Given the description of an element on the screen output the (x, y) to click on. 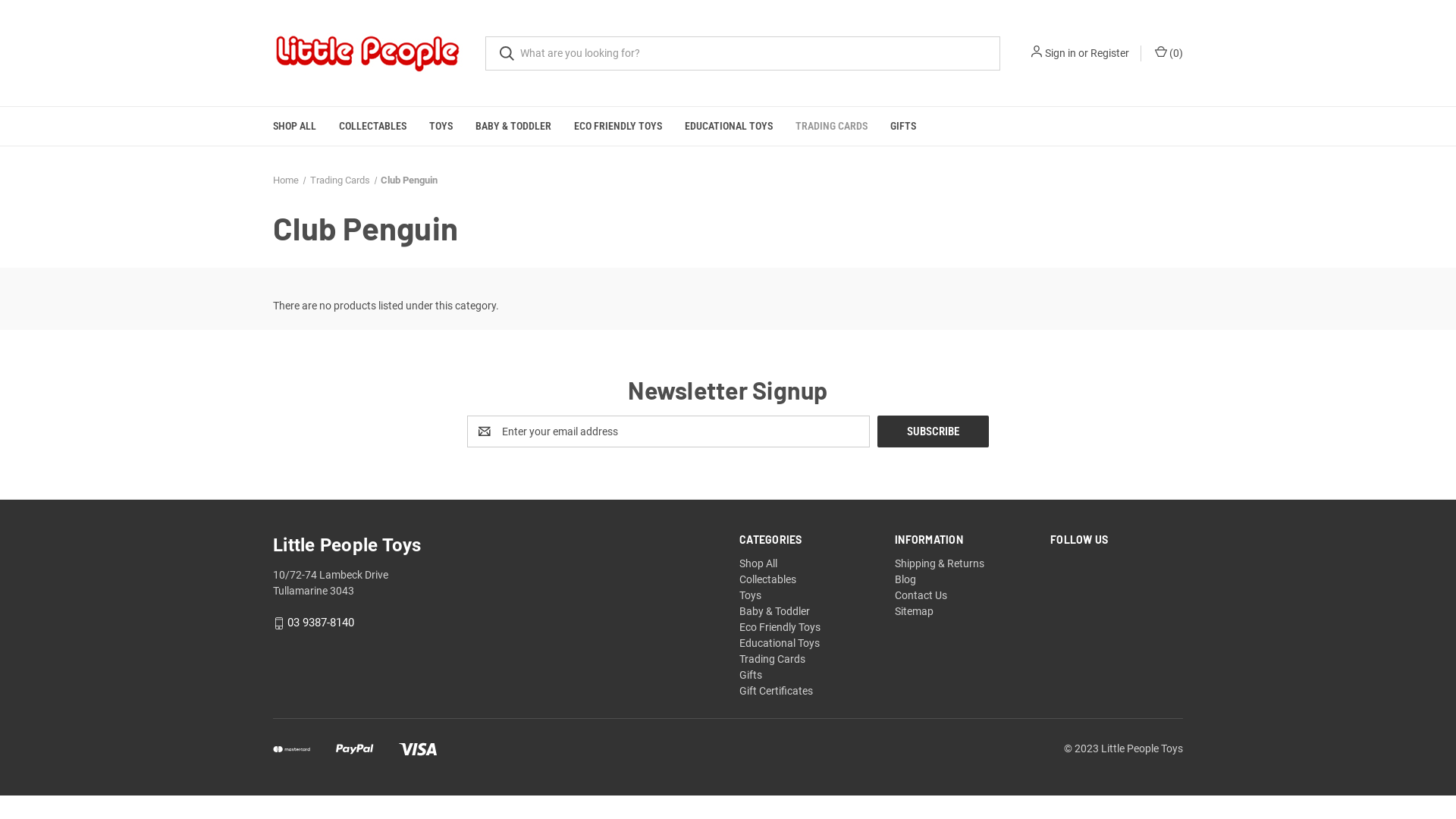
Educational Toys Element type: text (779, 643)
SHOP ALL Element type: text (294, 125)
Gift Certificates Element type: text (775, 690)
Trading Cards Element type: text (772, 658)
Shipping & Returns Element type: text (939, 563)
Club Penguin Element type: text (408, 179)
Sign in Element type: text (1060, 53)
Sitemap Element type: text (913, 611)
Home Element type: text (285, 179)
Little People Toys Element type: hover (367, 53)
Collectables Element type: text (767, 579)
EDUCATIONAL TOYS Element type: text (728, 125)
Trading Cards Element type: text (339, 179)
Blog Element type: text (905, 579)
Eco Friendly Toys Element type: text (779, 627)
Register Element type: text (1109, 53)
Toys Element type: text (750, 595)
BABY & TODDLER Element type: text (513, 125)
TOYS Element type: text (440, 125)
COLLECTABLES Element type: text (372, 125)
ECO FRIENDLY TOYS Element type: text (617, 125)
Gifts Element type: text (750, 674)
Baby & Toddler Element type: text (774, 611)
(0) Element type: text (1167, 53)
TRADING CARDS Element type: text (831, 125)
03 9387-8140 Element type: text (320, 623)
Subscribe Element type: text (932, 431)
Contact Us Element type: text (920, 595)
GIFTS Element type: text (902, 125)
Shop All Element type: text (758, 563)
